Given the description of an element on the screen output the (x, y) to click on. 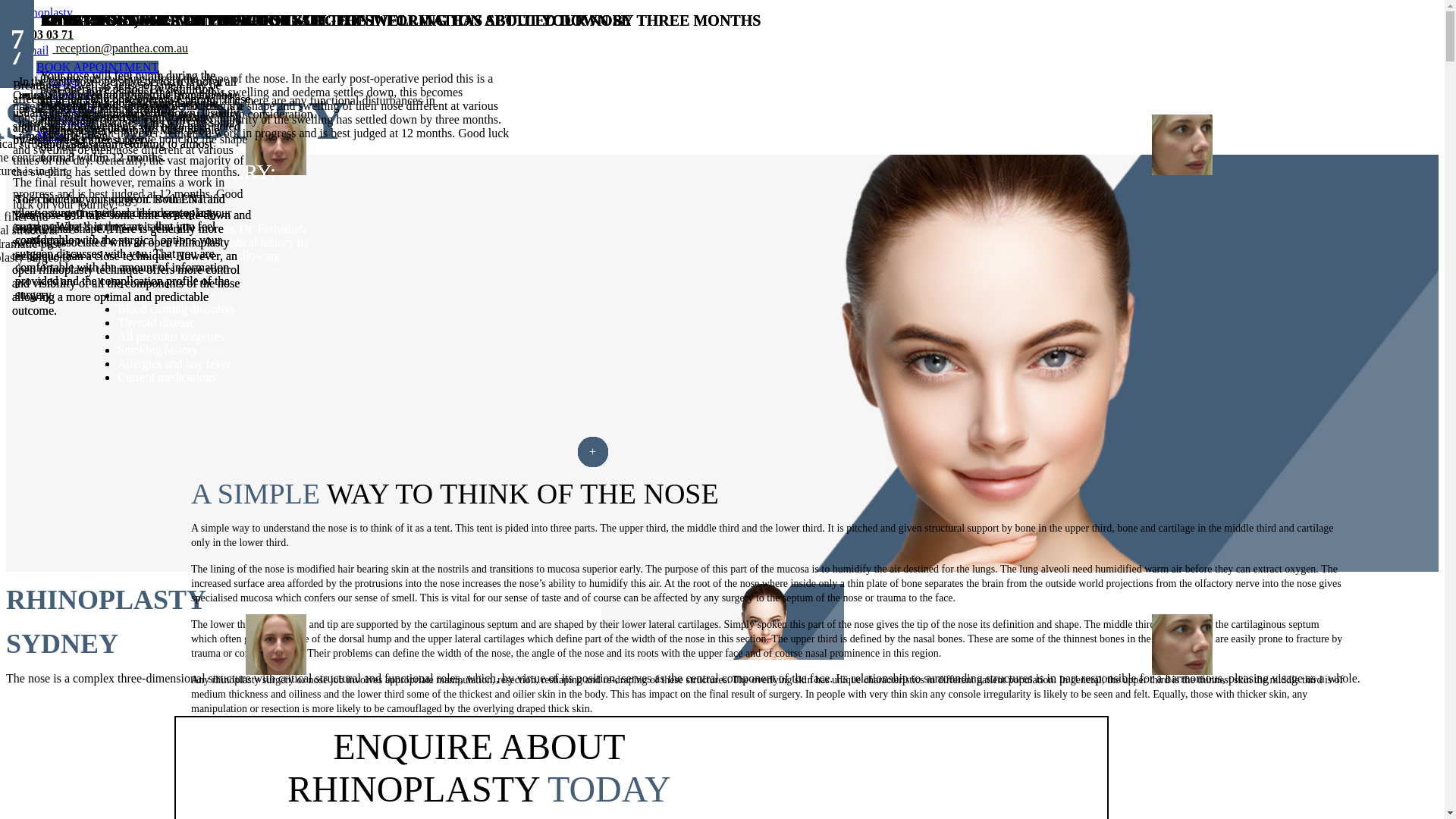
Menu Element type: text (51, 134)
+ Element type: text (592, 451)
BOOK APPOINTMENT Element type: text (97, 66)
reception@panthea.com.au Element type: text (482, 53)
21639a10-img3_05d06305d05y000002000 Element type: hover (1181, 644)
21639a10-img3_05d06305d05y000002000 Element type: hover (1181, 144)
c6f6eb8c-img2_05d06305d05y000002000 Element type: hover (275, 644)
c6f6eb8c-img2_05d06305d05y000002000 Element type: hover (275, 144)
1300 03 03 71 Element type: text (482, 38)
